Given the description of an element on the screen output the (x, y) to click on. 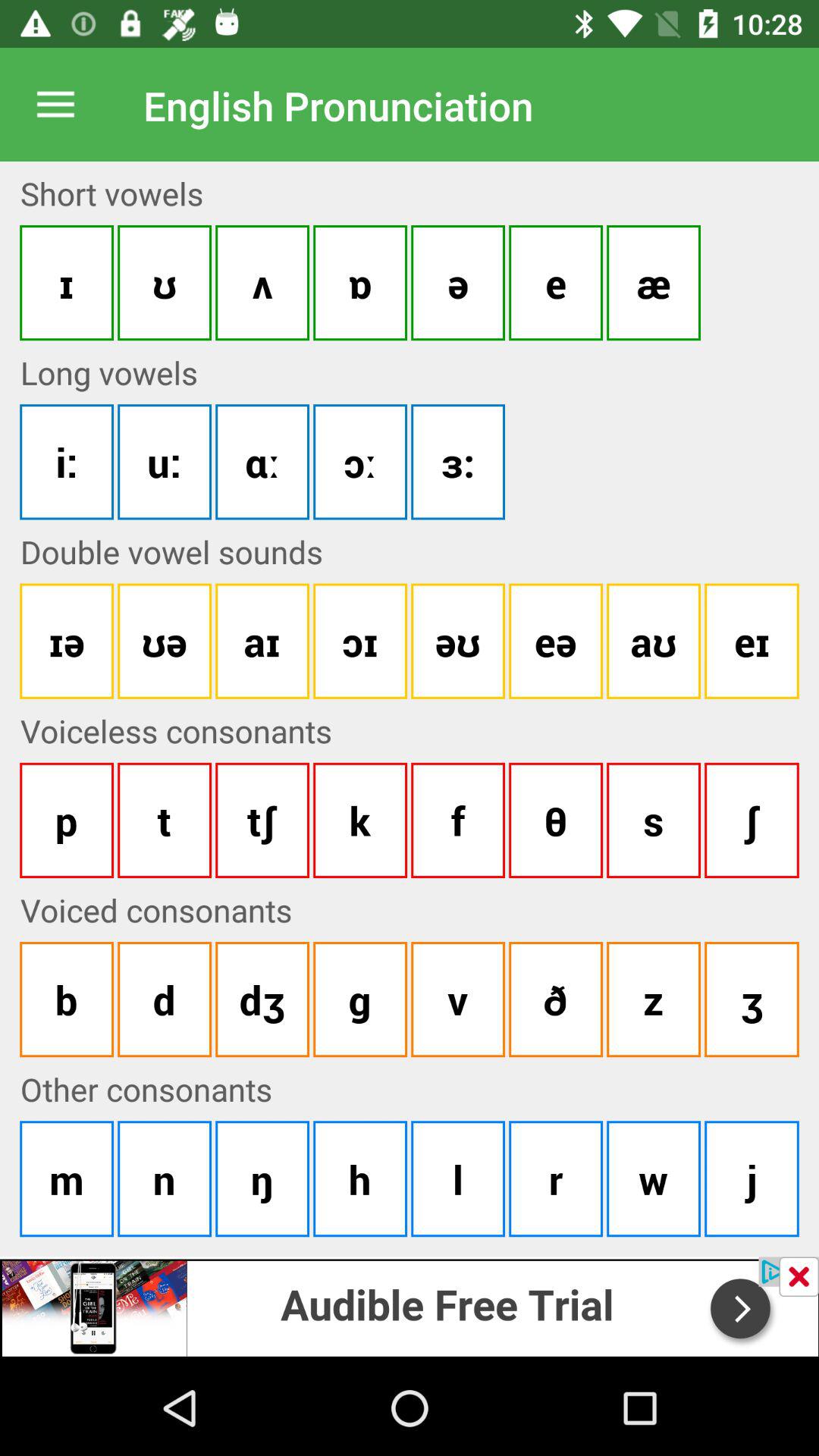
select advertisement (409, 1306)
